Given the description of an element on the screen output the (x, y) to click on. 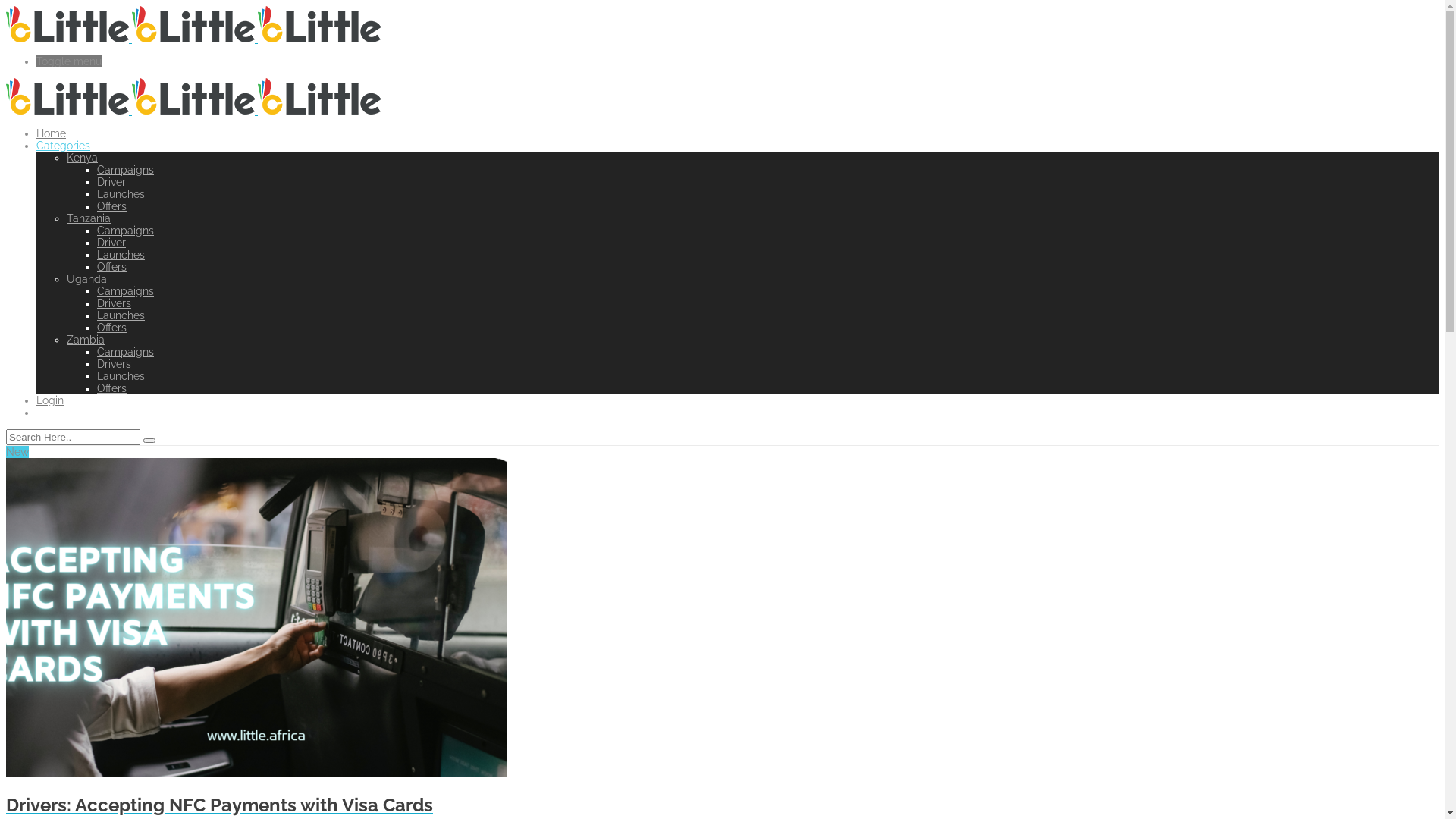
Offers Element type: text (111, 206)
Tanzania Element type: text (88, 218)
Campaigns Element type: text (125, 230)
Drivers: Accepting NFC Payments with Visa Cards Element type: text (722, 804)
Offers Element type: text (111, 327)
Toggle menu Element type: text (737, 61)
Drivers Element type: text (114, 303)
Driver Element type: text (111, 242)
Launches Element type: text (120, 254)
Launches Element type: text (120, 376)
Offers Element type: text (111, 388)
Campaigns Element type: text (125, 351)
Offers Element type: text (111, 266)
Campaigns Element type: text (125, 169)
Driver Element type: text (111, 181)
Kenya Element type: text (81, 157)
Drivers Element type: text (114, 363)
Login Element type: text (49, 400)
Home Element type: text (50, 133)
Launches Element type: text (120, 315)
Campaigns Element type: text (125, 291)
Categories Element type: text (63, 145)
Launches Element type: text (120, 194)
Uganda Element type: text (86, 279)
Zambia Element type: text (85, 339)
